Given the description of an element on the screen output the (x, y) to click on. 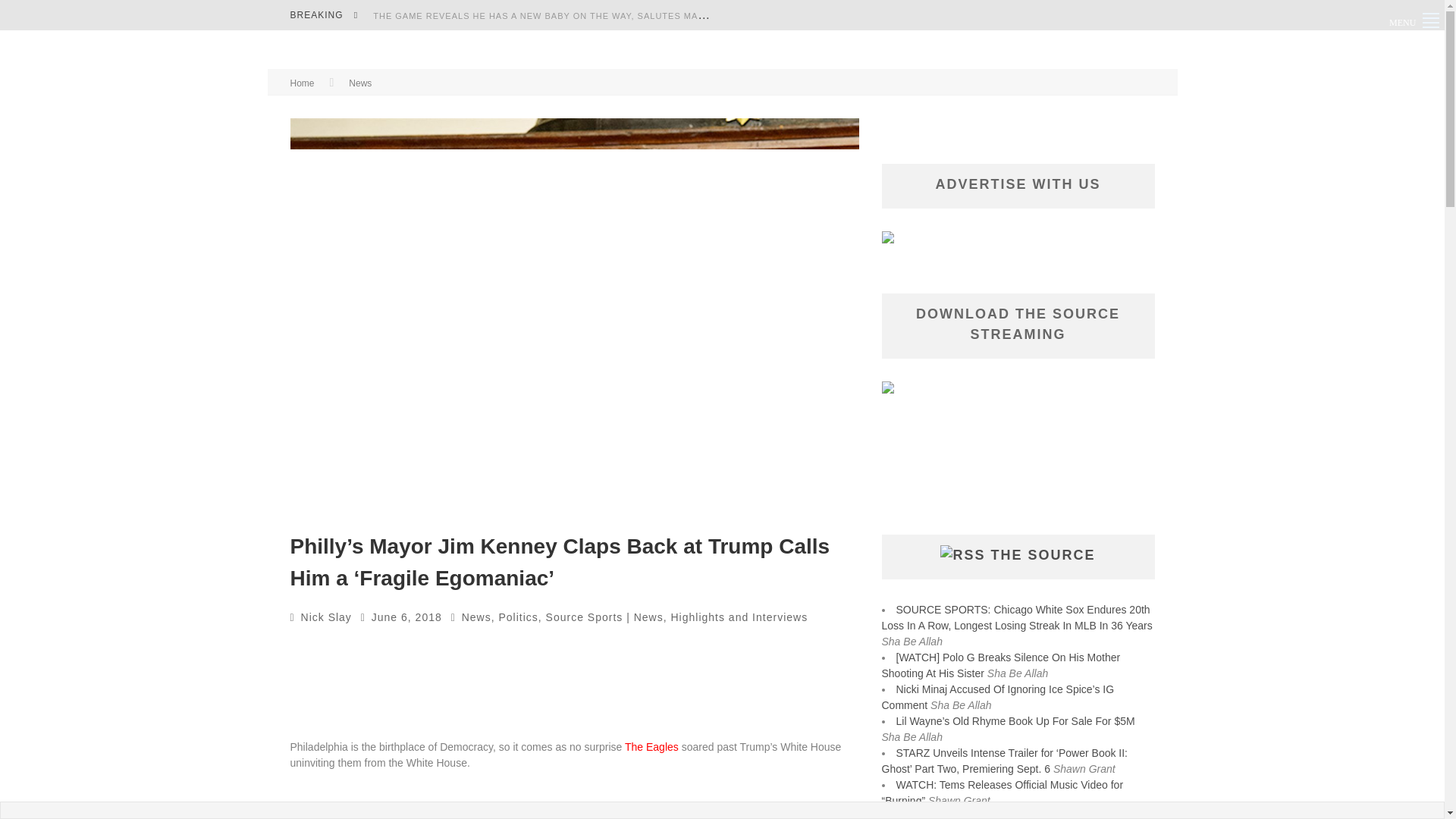
View all posts in News (476, 616)
Home (301, 82)
News (360, 82)
News (476, 616)
View all posts in Politics (517, 616)
View all posts in News (360, 82)
Politics (517, 616)
